Given the description of an element on the screen output the (x, y) to click on. 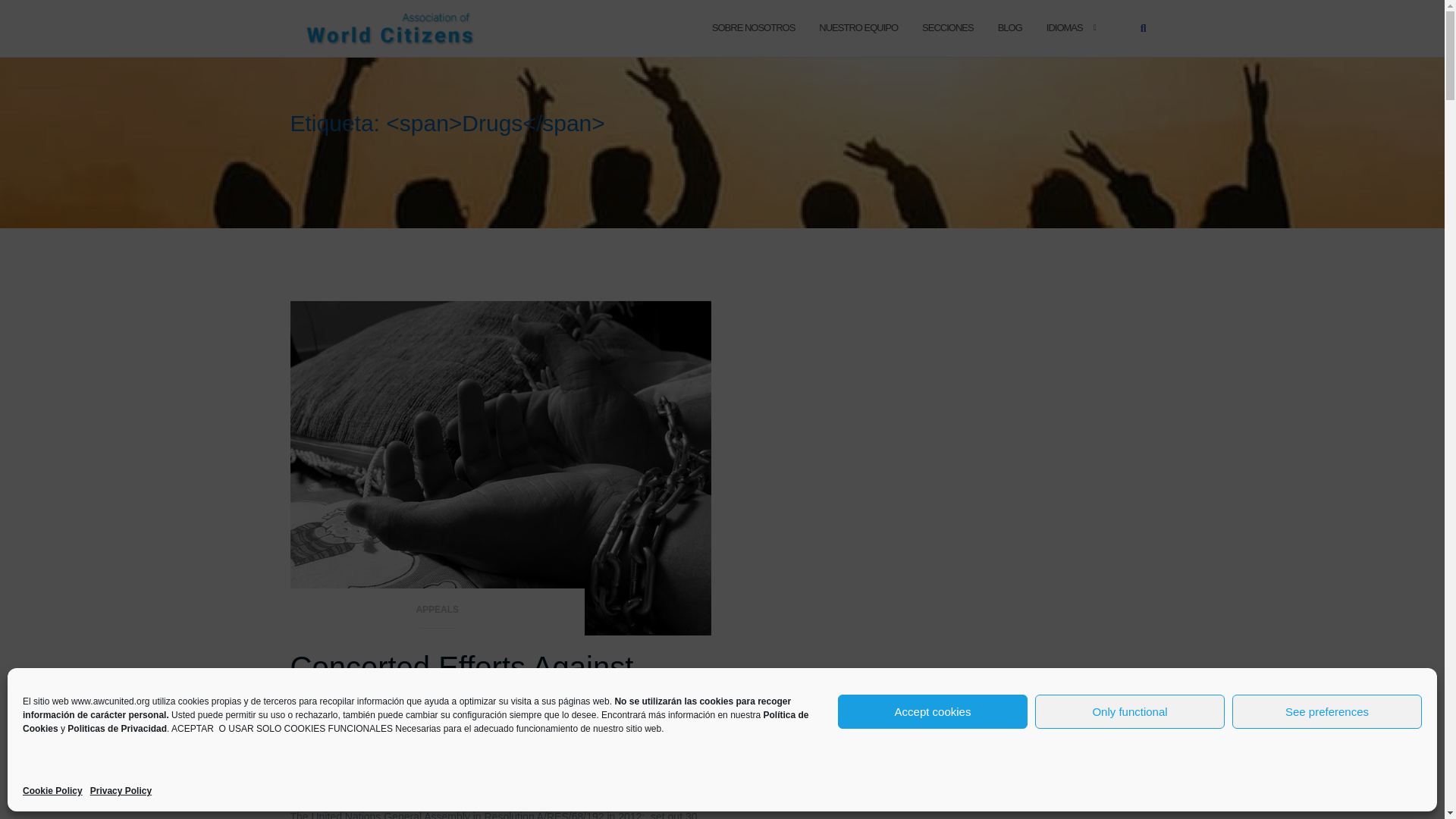
Privacy Policy (120, 791)
Cookie Policy (52, 791)
APPEALS (437, 614)
Secciones (947, 28)
Nuestro Equipo (858, 28)
SECCIONES (947, 28)
Politicas de Privacidad (116, 728)
NUESTRO EQUIPO (858, 28)
Rene Wadlow (499, 728)
Only functional (1129, 711)
Rene Wadlow (499, 728)
Concerted Efforts Against Trafficking in Persons. (461, 681)
Sobre Nosotros (752, 28)
SOBRE NOSOTROS (752, 28)
Accept cookies (932, 711)
